Given the description of an element on the screen output the (x, y) to click on. 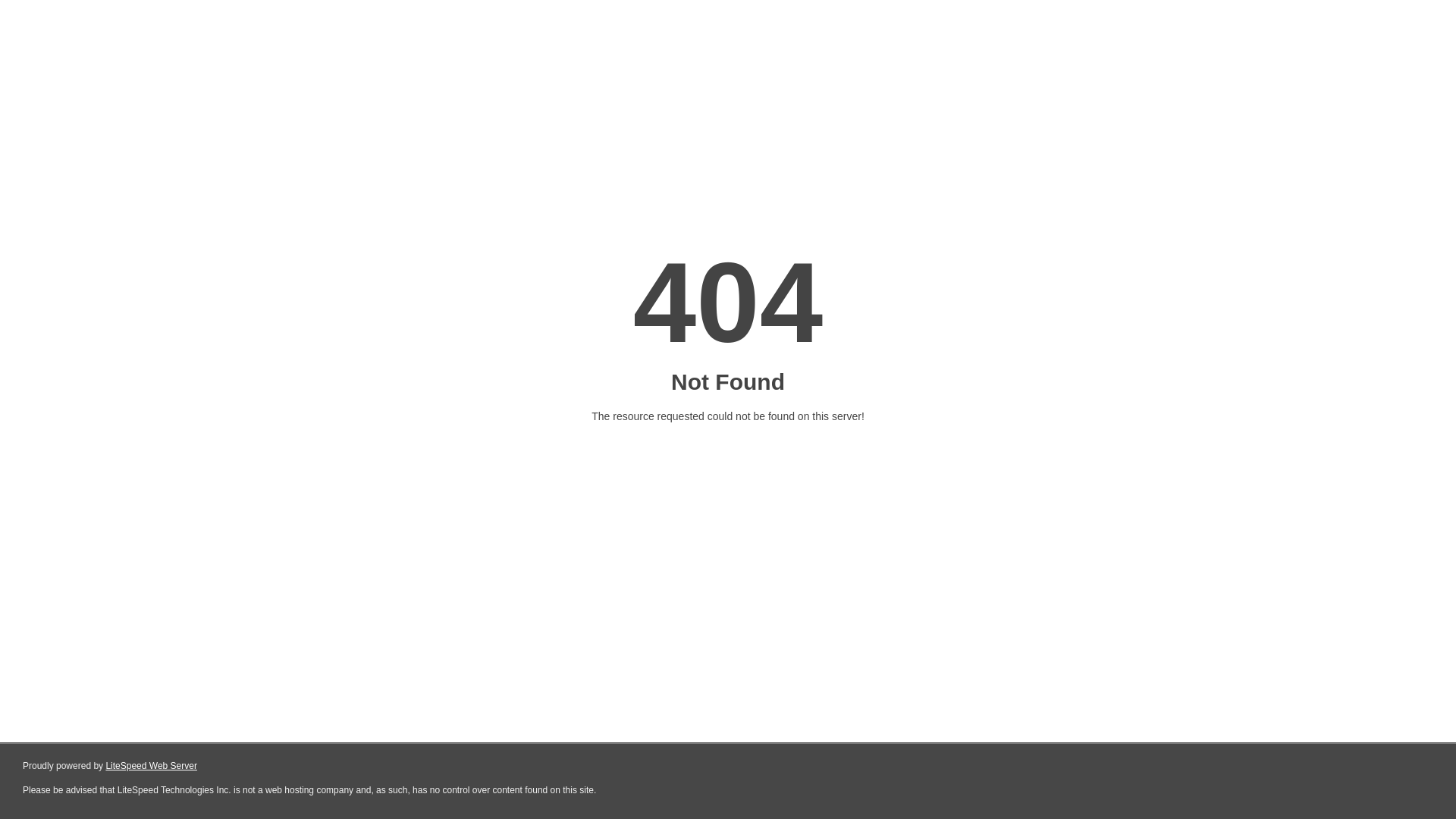
LiteSpeed Web Server Element type: text (151, 765)
